Given the description of an element on the screen output the (x, y) to click on. 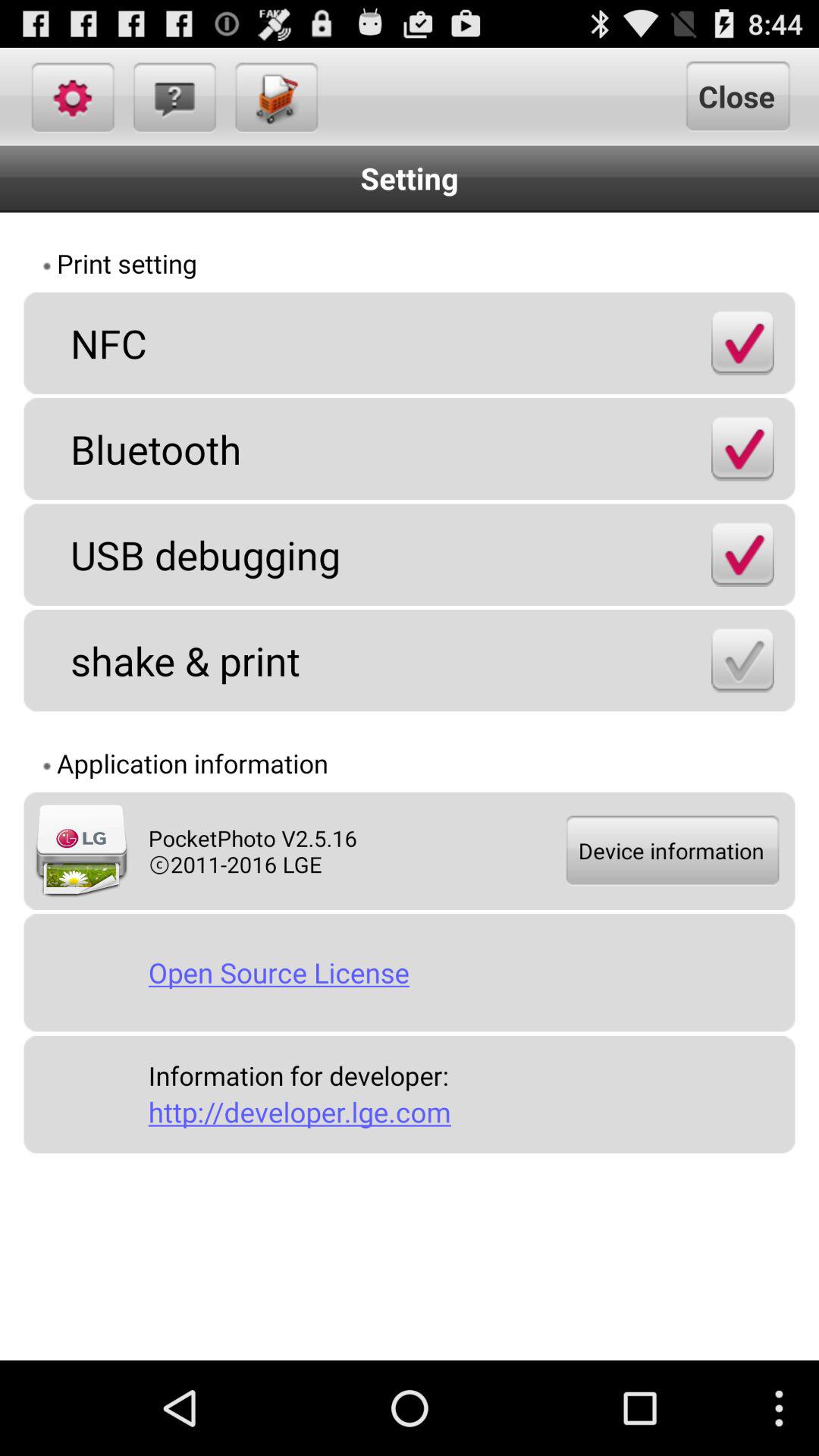
select the http developer lge app (466, 1111)
